Given the description of an element on the screen output the (x, y) to click on. 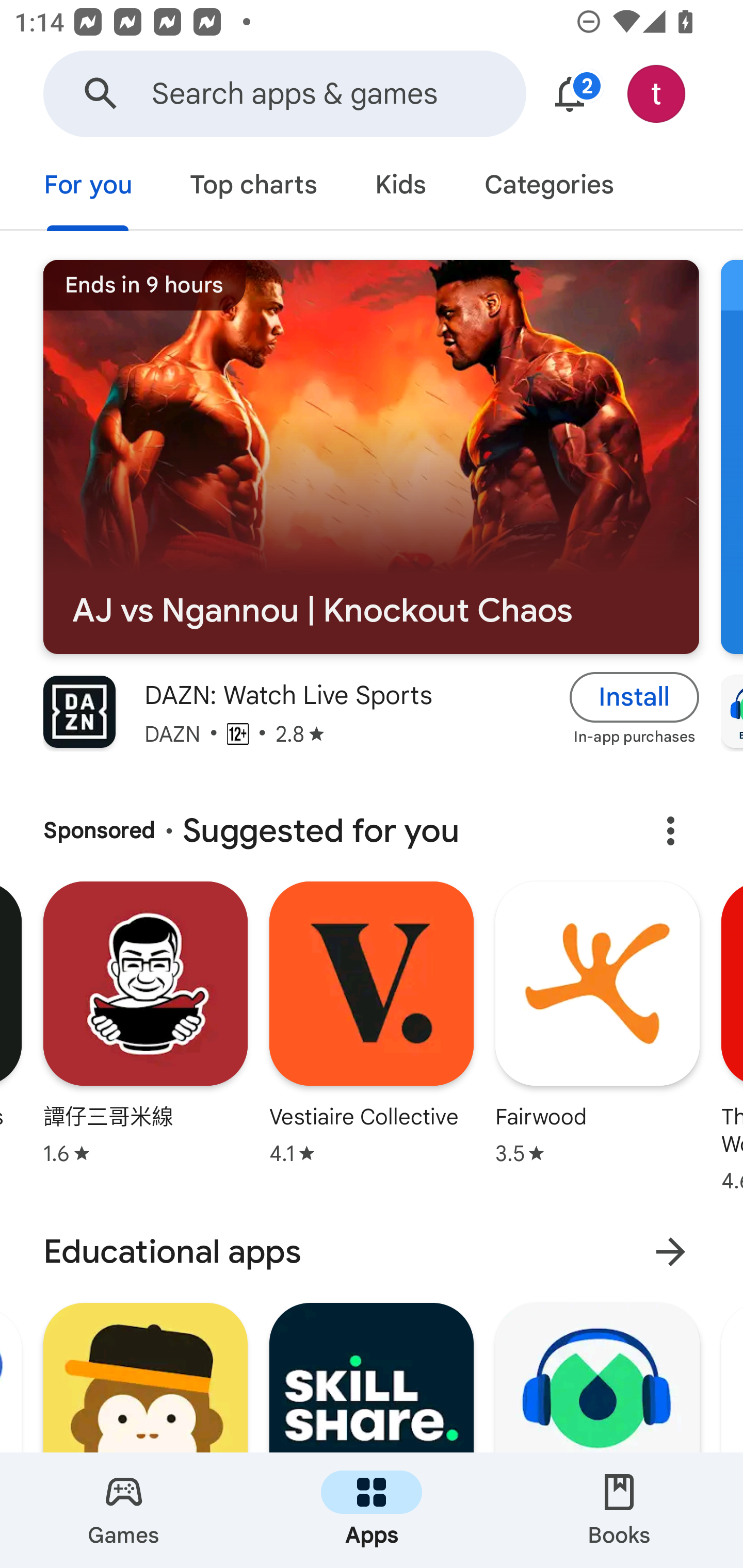
Search Google Play Search apps & games (284, 93)
Search Google Play (100, 93)
Top charts (253, 187)
Kids (400, 187)
Categories (548, 187)
AJ vs Ngannou | Knockout Chaos Ends in 9 hours (371, 456)
Install (634, 696)
About this ad (670, 830)
譚仔三哥米線
Star rating: 1.6
 (145, 1041)
Vestiaire Collective
Star rating: 4.1
 (371, 1041)
Fairwood
Star rating: 3.5
 (597, 1041)
Educational apps More results for Educational apps (371, 1252)
More results for Educational apps (670, 1251)
Games (123, 1509)
Books (619, 1509)
